Given the description of an element on the screen output the (x, y) to click on. 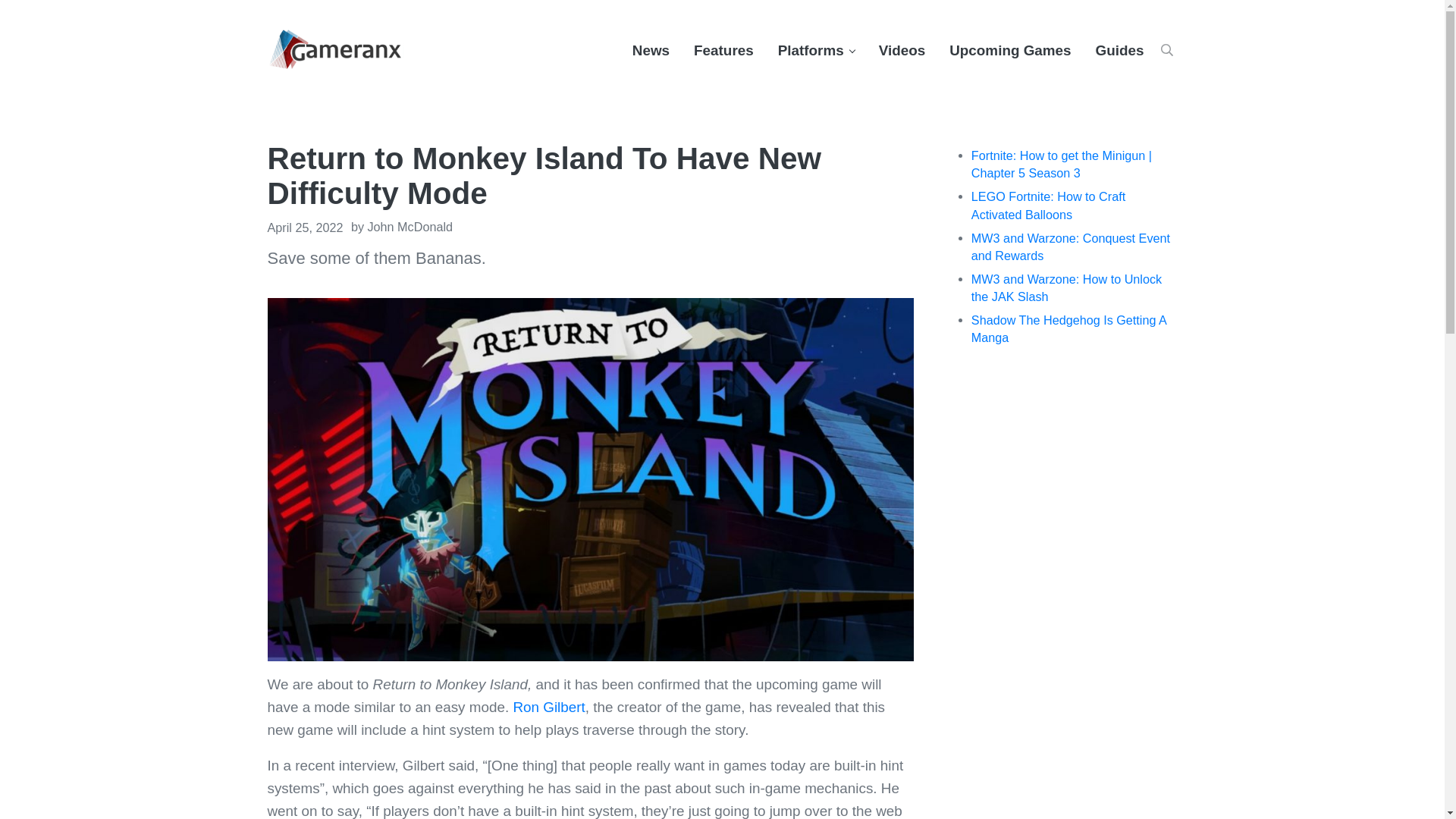
Guides (1119, 50)
Platforms (815, 50)
Features (723, 50)
Upcoming Games (1010, 50)
John McDonald (410, 226)
News (650, 50)
Ron Gilbert (548, 706)
Videos (901, 50)
